Given the description of an element on the screen output the (x, y) to click on. 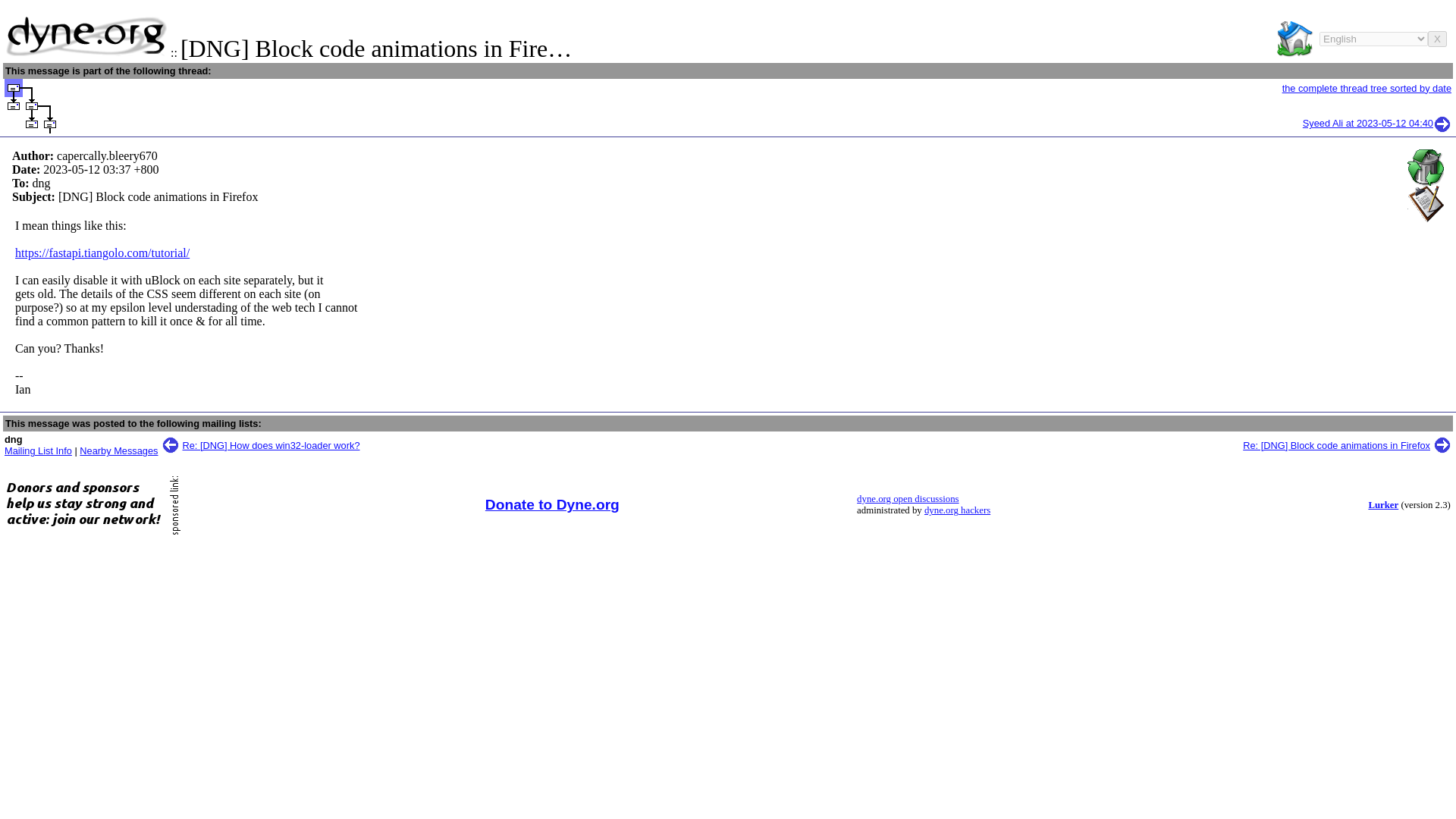
X (1437, 38)
Delete this message (1425, 167)
capercally.bleery670 at 2023-05-11 19:37 (13, 87)
dyne.org open discussions (907, 498)
Reply to this message (1425, 203)
Syeed Ali at 2023-05-12 04:40 (1377, 122)
Mailing List Info (37, 450)
Nearby Messages (118, 450)
Donate to Dyne.org (552, 504)
Syeed Ali at 2023-05-11 20:40 (31, 106)
